Given the description of an element on the screen output the (x, y) to click on. 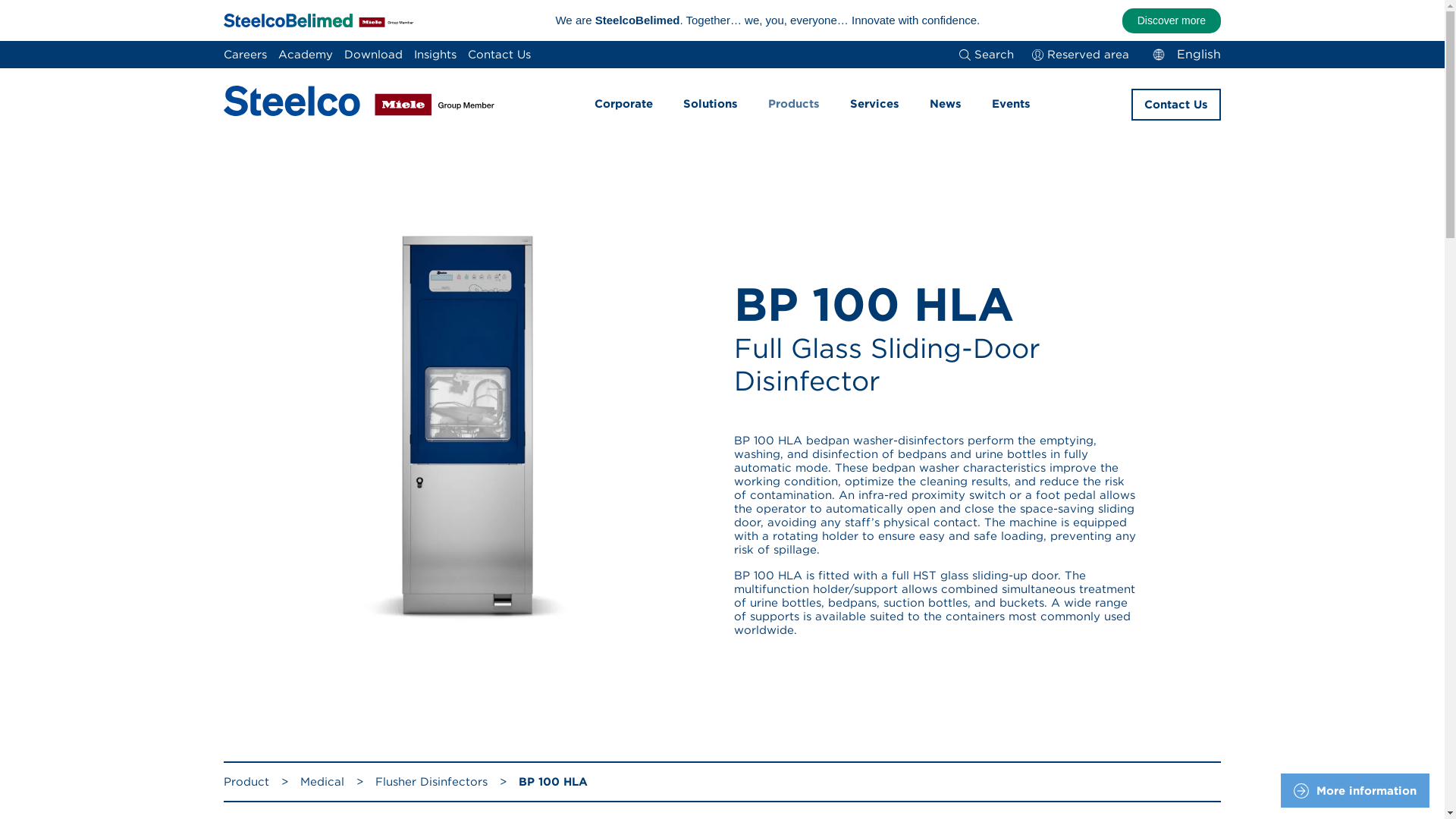
Insights (435, 54)
Discover more (1171, 20)
Academy (305, 54)
English (1184, 53)
Contact Us (499, 54)
Insights (435, 54)
Download (373, 54)
Download (373, 54)
Steelco (359, 104)
Contact Us (1176, 104)
Events (1010, 103)
Academy (305, 54)
 Reserved area (1080, 54)
Contact Us (499, 54)
Services (874, 103)
